Given the description of an element on the screen output the (x, y) to click on. 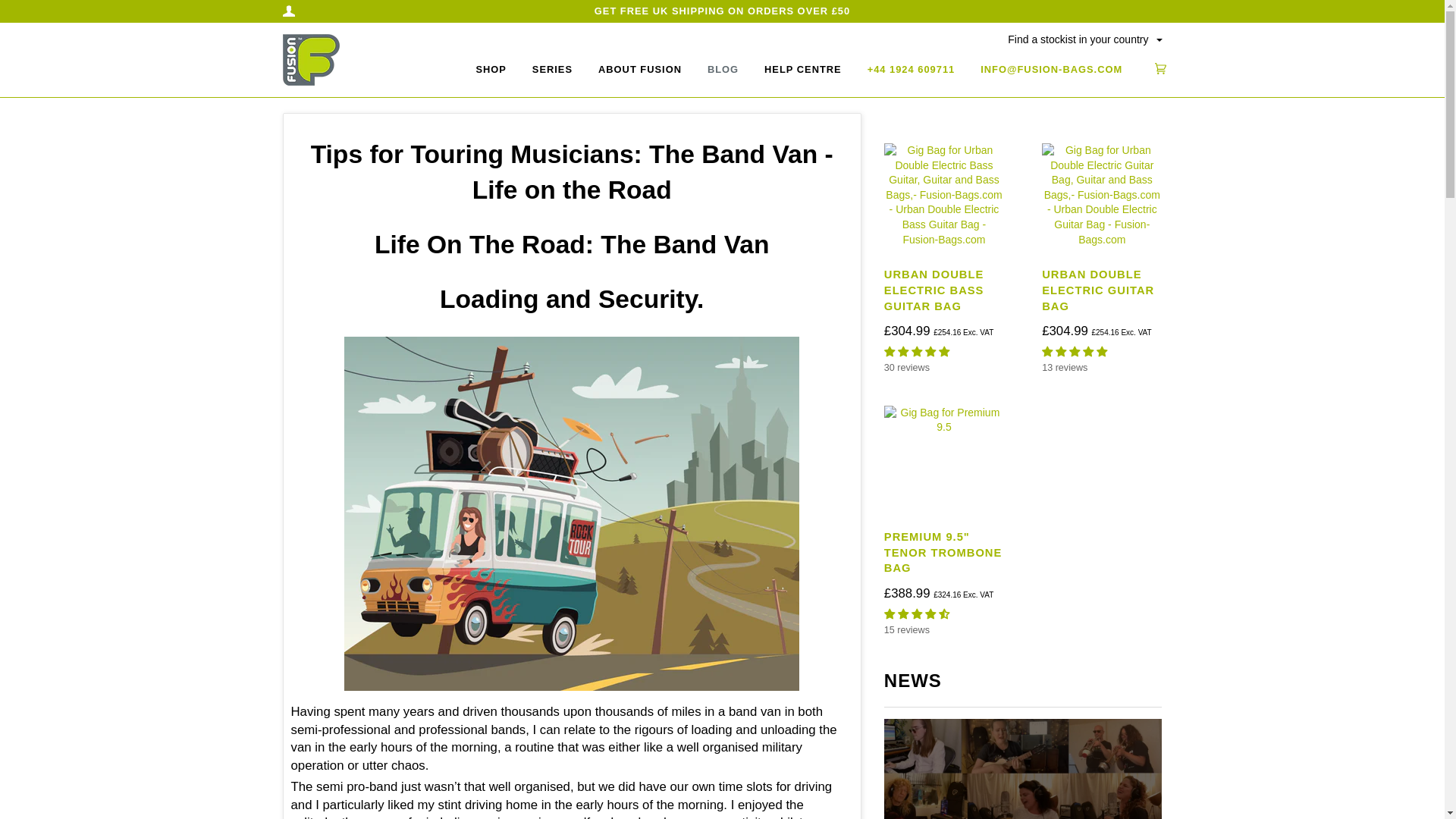
Search (1140, 33)
Find a stockist in your country (1082, 39)
